Given the description of an element on the screen output the (x, y) to click on. 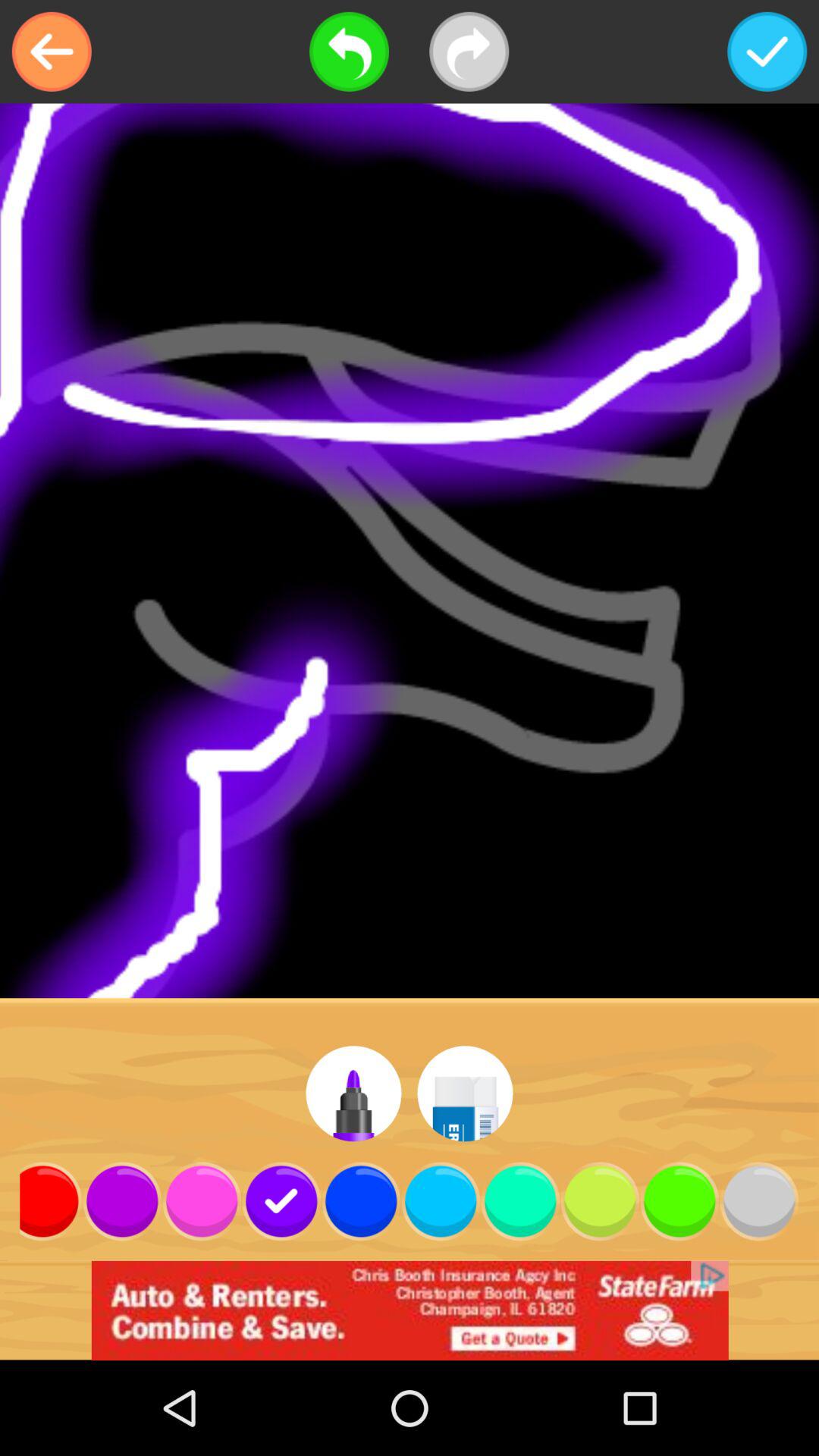
finish drawing (767, 51)
